Given the description of an element on the screen output the (x, y) to click on. 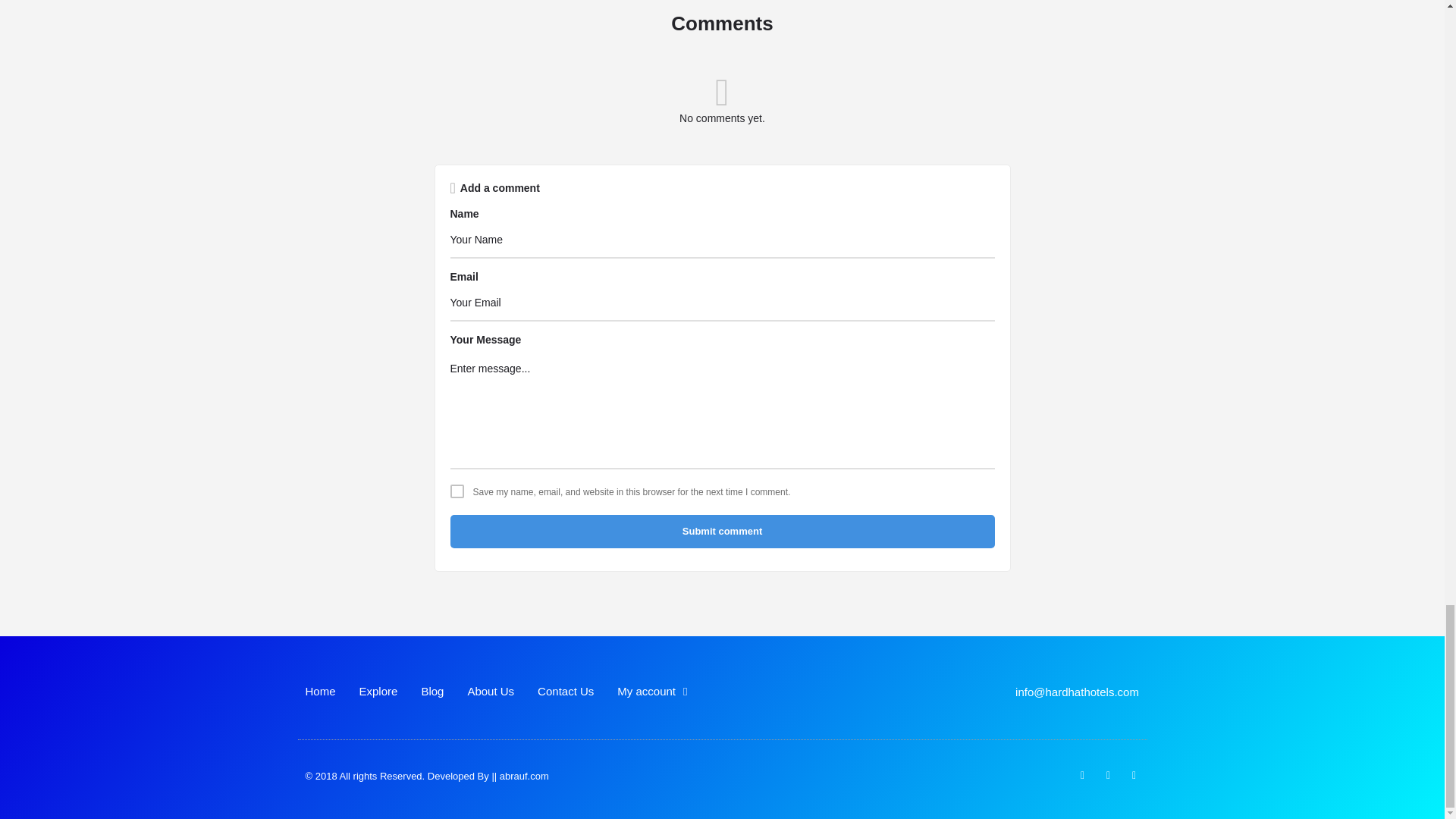
Explore (378, 691)
Contact Us (565, 691)
About Us (490, 691)
Submit comment (721, 531)
